Given the description of an element on the screen output the (x, y) to click on. 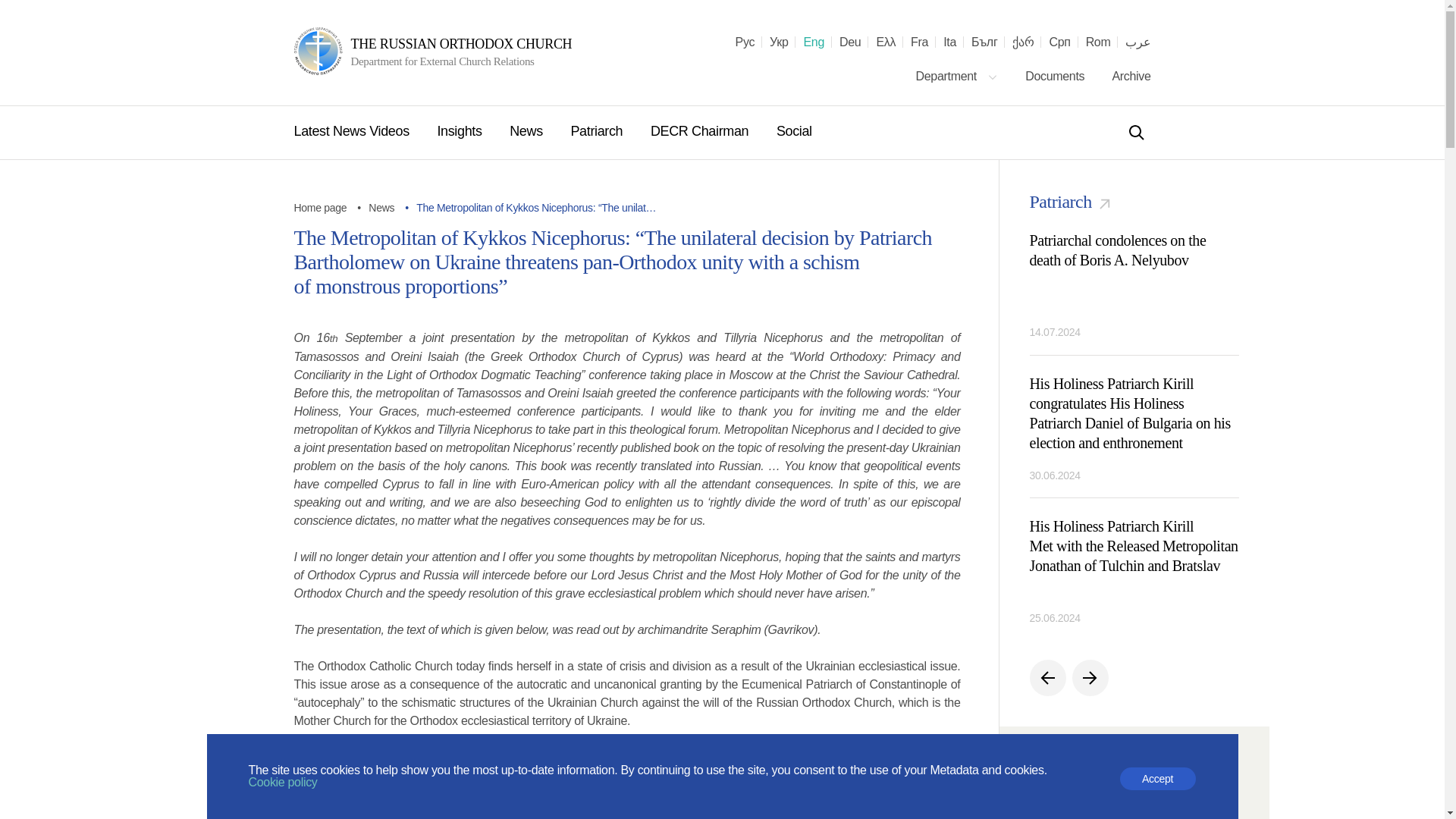
Department (956, 75)
Deutsch (850, 42)
English (813, 42)
Documents (1056, 75)
Home page (320, 207)
Latest News Videos (353, 130)
Archive (1131, 75)
Patriarch (598, 130)
DECR Chairman (701, 130)
Deu (850, 42)
News (527, 130)
Italiano (949, 42)
Insights (460, 130)
Ita (949, 42)
News (381, 207)
